Given the description of an element on the screen output the (x, y) to click on. 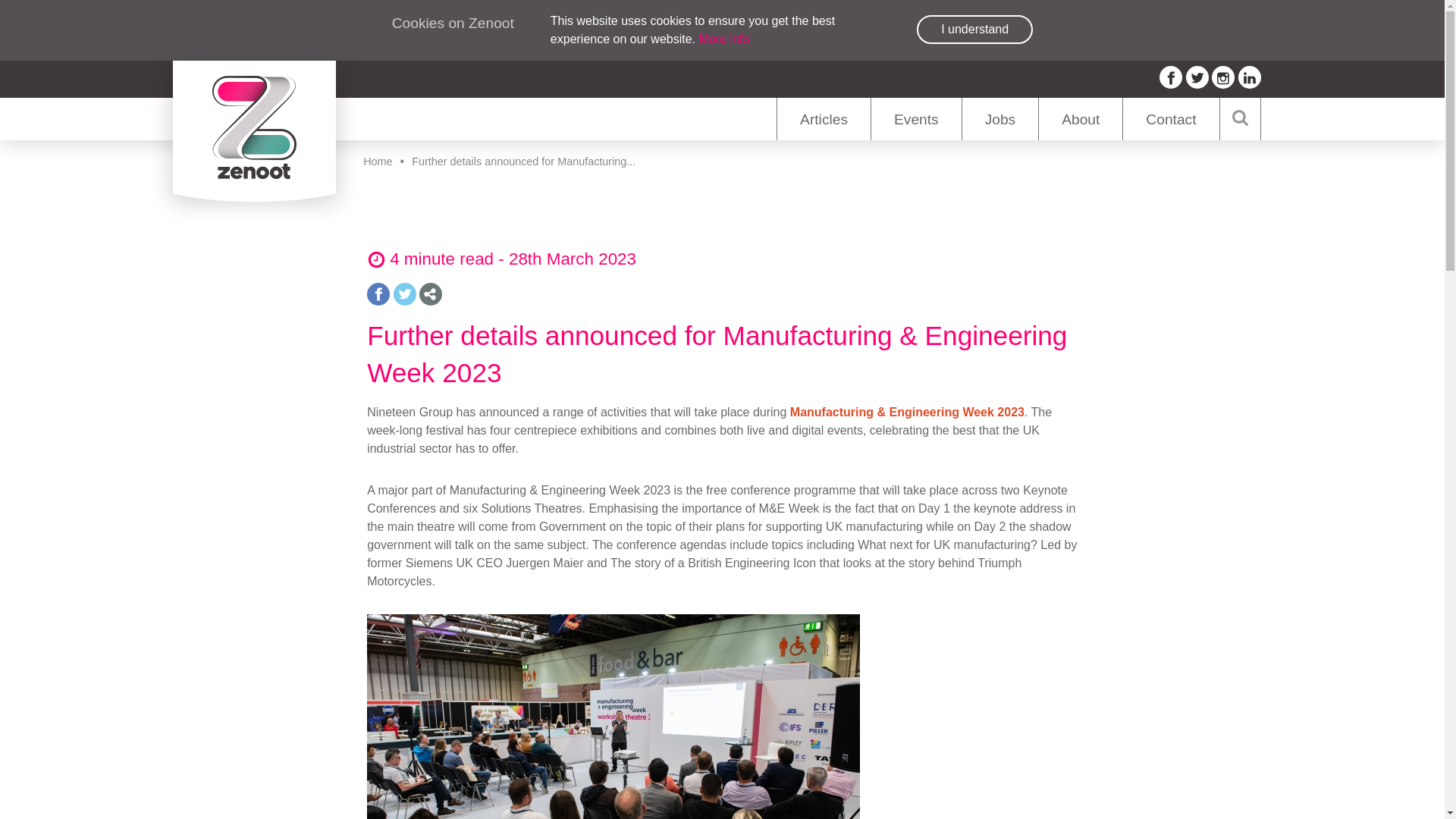
Articles (823, 118)
Further details announced for Manufacturing... (523, 161)
I understand (974, 29)
More info (723, 38)
Events (915, 118)
Jobs (999, 118)
About (1080, 118)
Home (376, 161)
Contact (1170, 118)
